Given the description of an element on the screen output the (x, y) to click on. 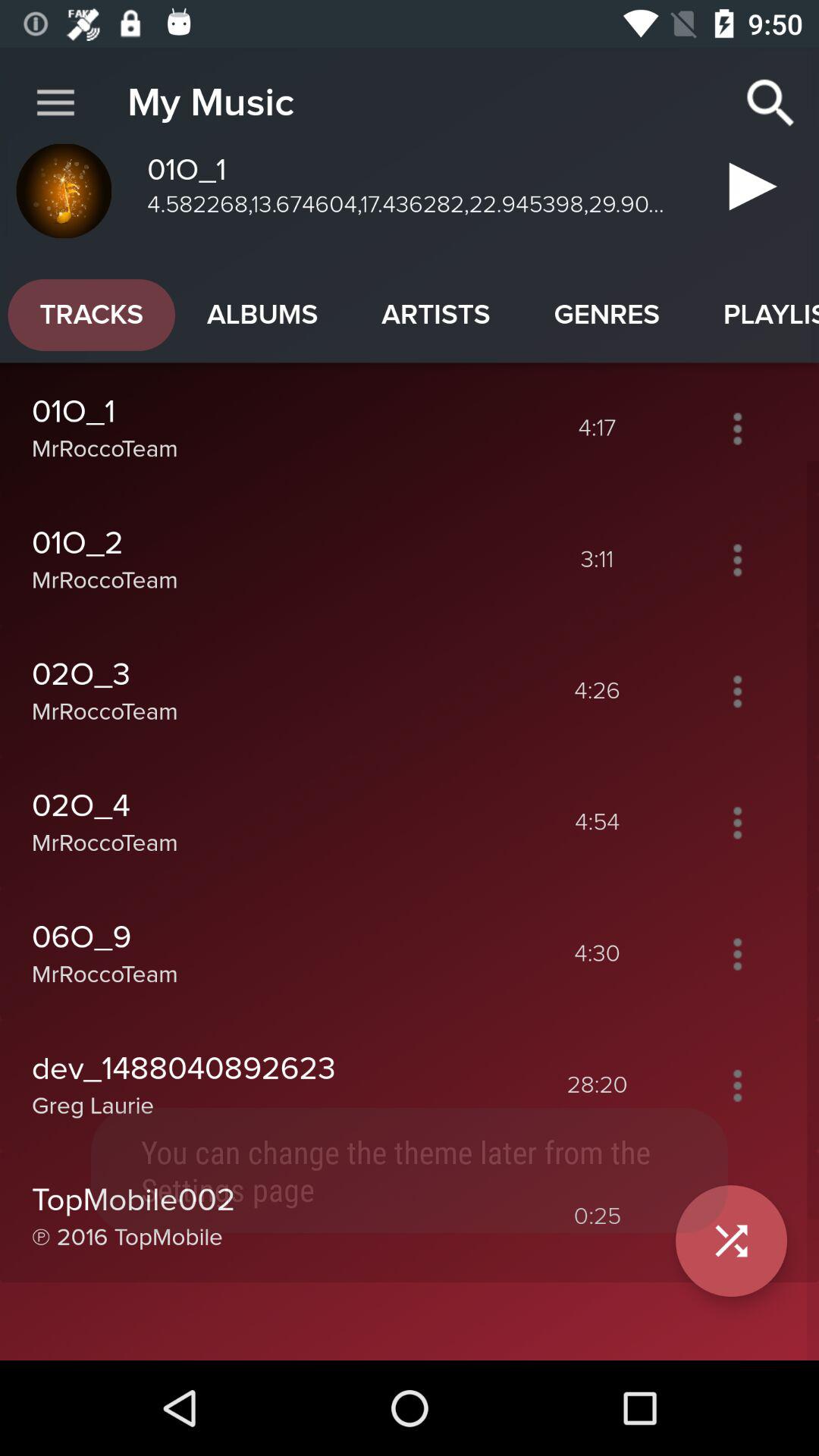
choose app to the left of genres icon (435, 314)
